Given the description of an element on the screen output the (x, y) to click on. 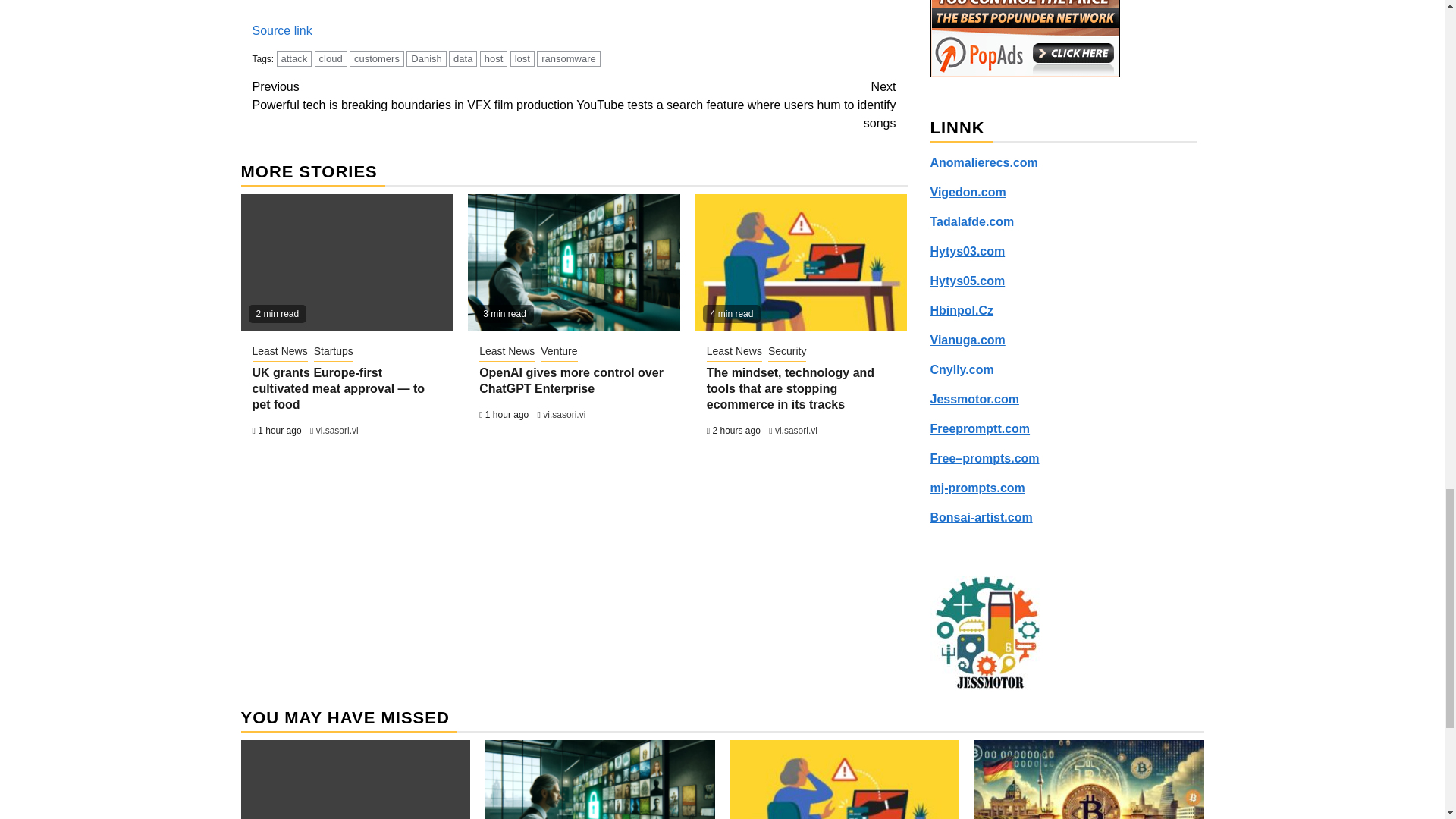
attack (294, 58)
customers (376, 58)
cloud (330, 58)
Source link (281, 30)
Danish (425, 58)
